Given the description of an element on the screen output the (x, y) to click on. 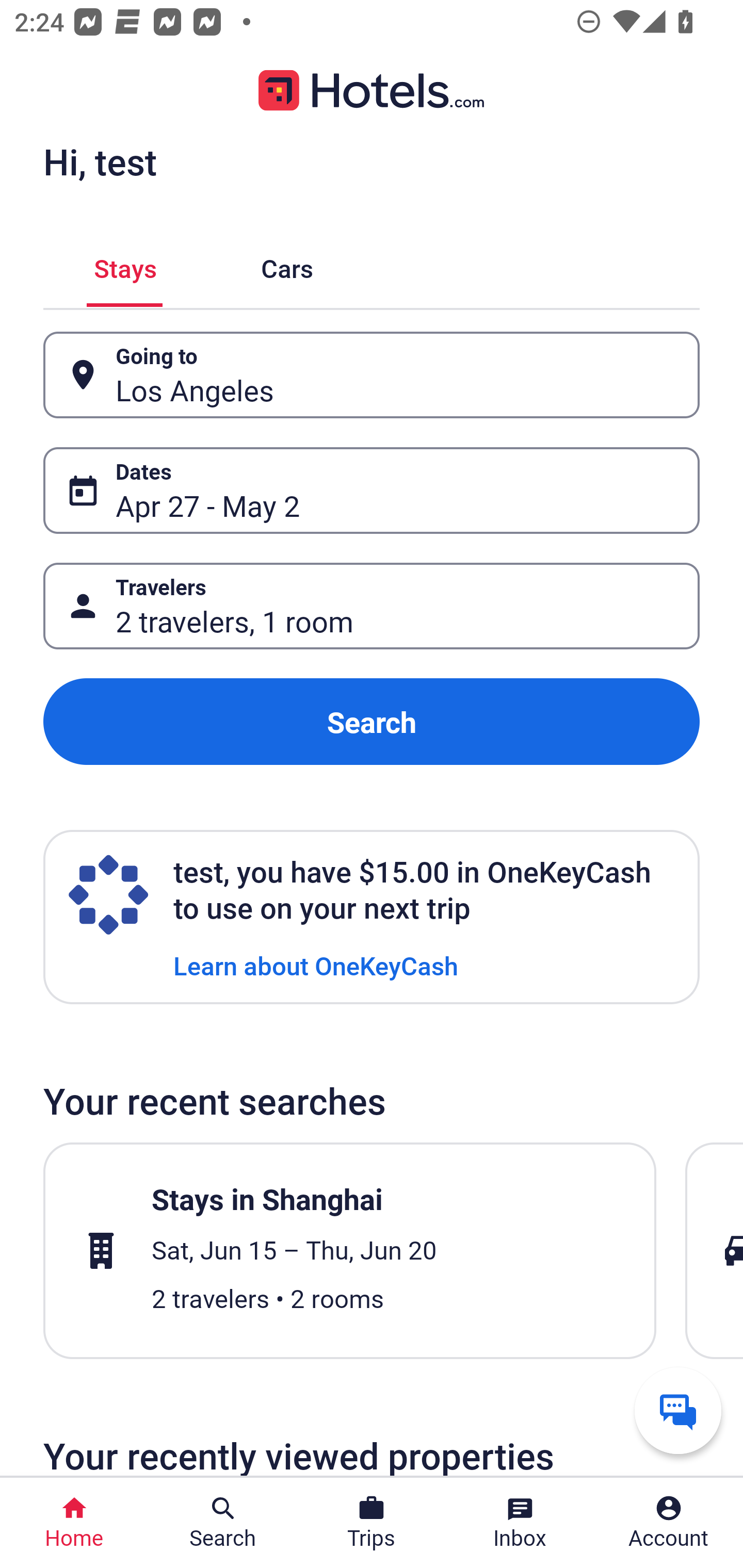
Hi, test (99, 161)
Cars (286, 265)
Going to Button Los Angeles (371, 375)
Dates Button Apr 27 - May 2 (371, 489)
Travelers Button 2 travelers, 1 room (371, 605)
Search (371, 721)
Learn about OneKeyCash Learn about OneKeyCash Link (315, 964)
Get help from a virtual agent (677, 1410)
Search Search Button (222, 1522)
Trips Trips Button (371, 1522)
Inbox Inbox Button (519, 1522)
Account Profile. Button (668, 1522)
